Given the description of an element on the screen output the (x, y) to click on. 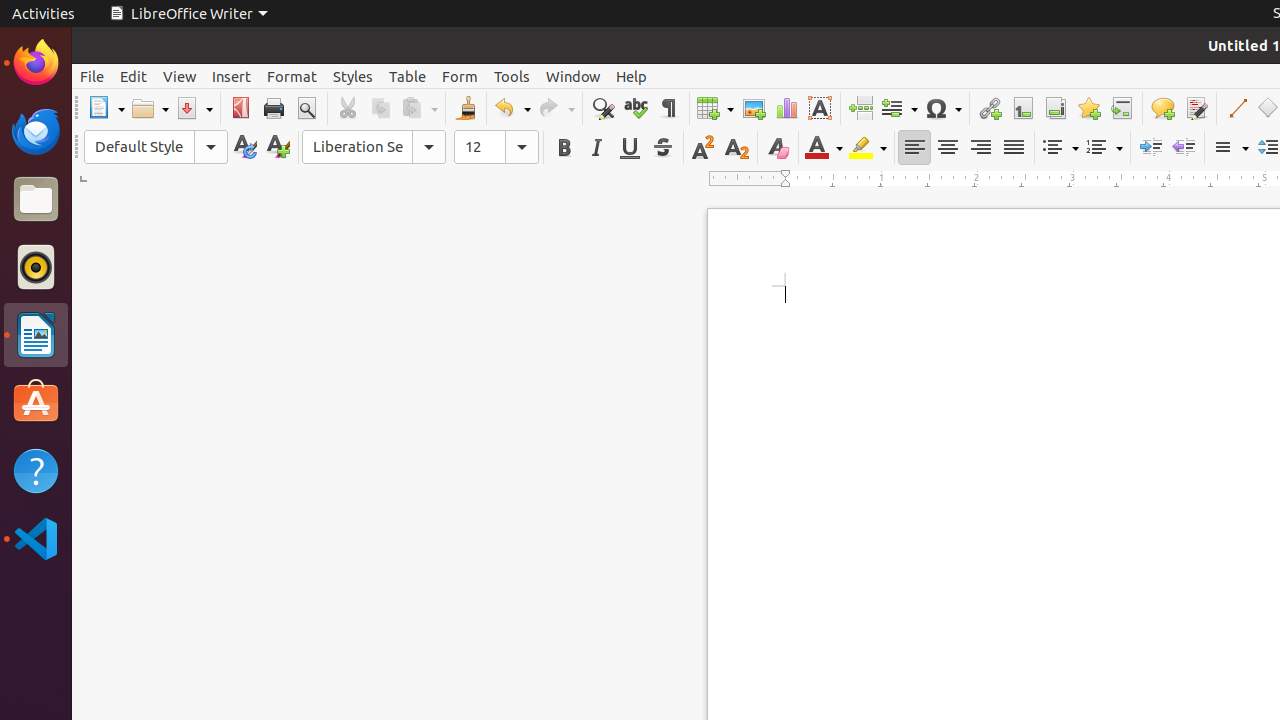
Font Name Element type: combo-box (374, 147)
Bold Element type: toggle-button (563, 147)
Paragraph Style Element type: panel (156, 147)
Comment Element type: push-button (1162, 108)
Numbering Element type: push-button (1104, 147)
